Given the description of an element on the screen output the (x, y) to click on. 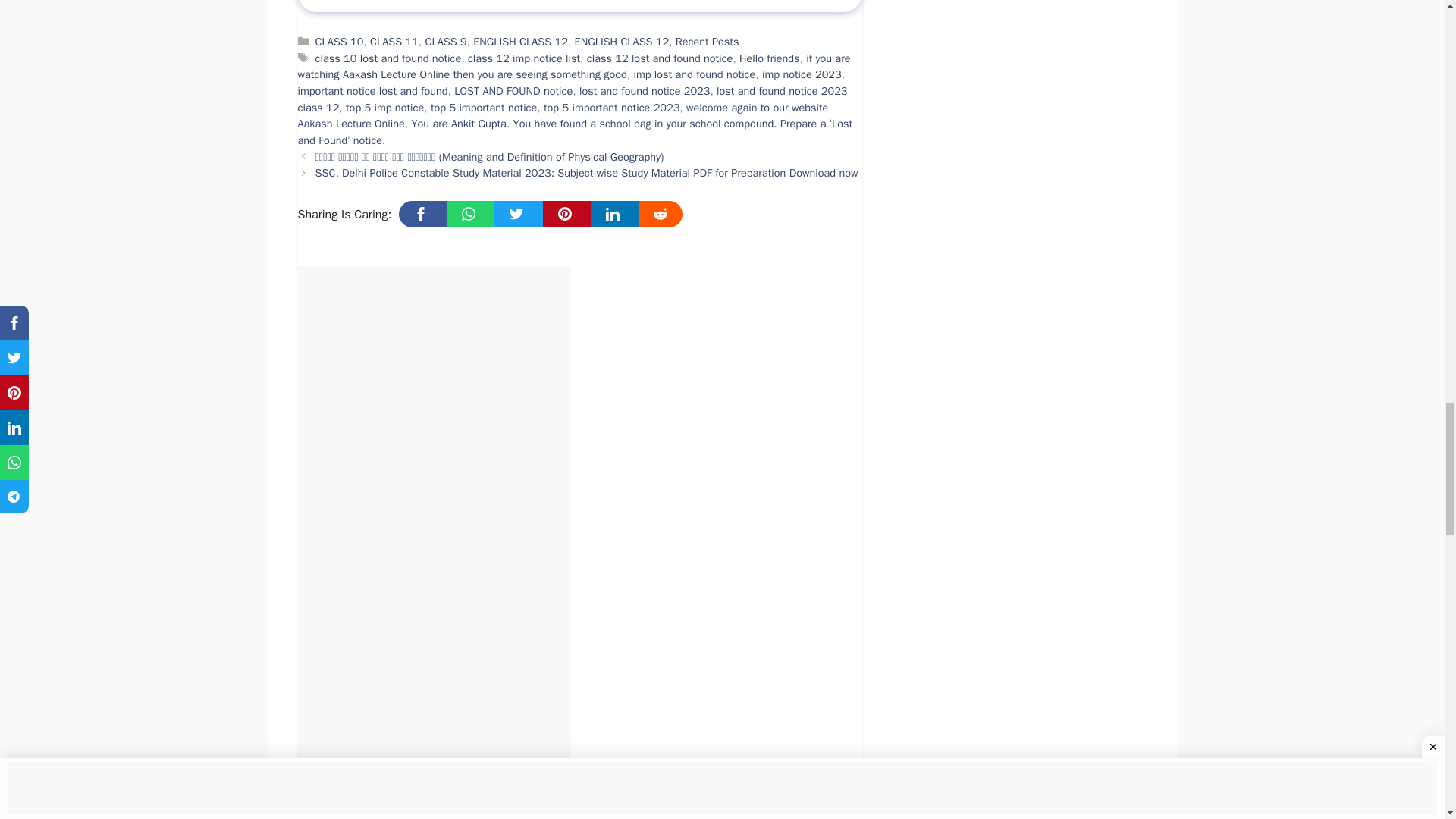
CLASS 10 (339, 41)
ENGLISH CLASS 12 (520, 41)
CLASS 11 (394, 41)
Akash Sahu (449, 2)
Contact this author (449, 2)
CLASS 9 (445, 41)
